Given the description of an element on the screen output the (x, y) to click on. 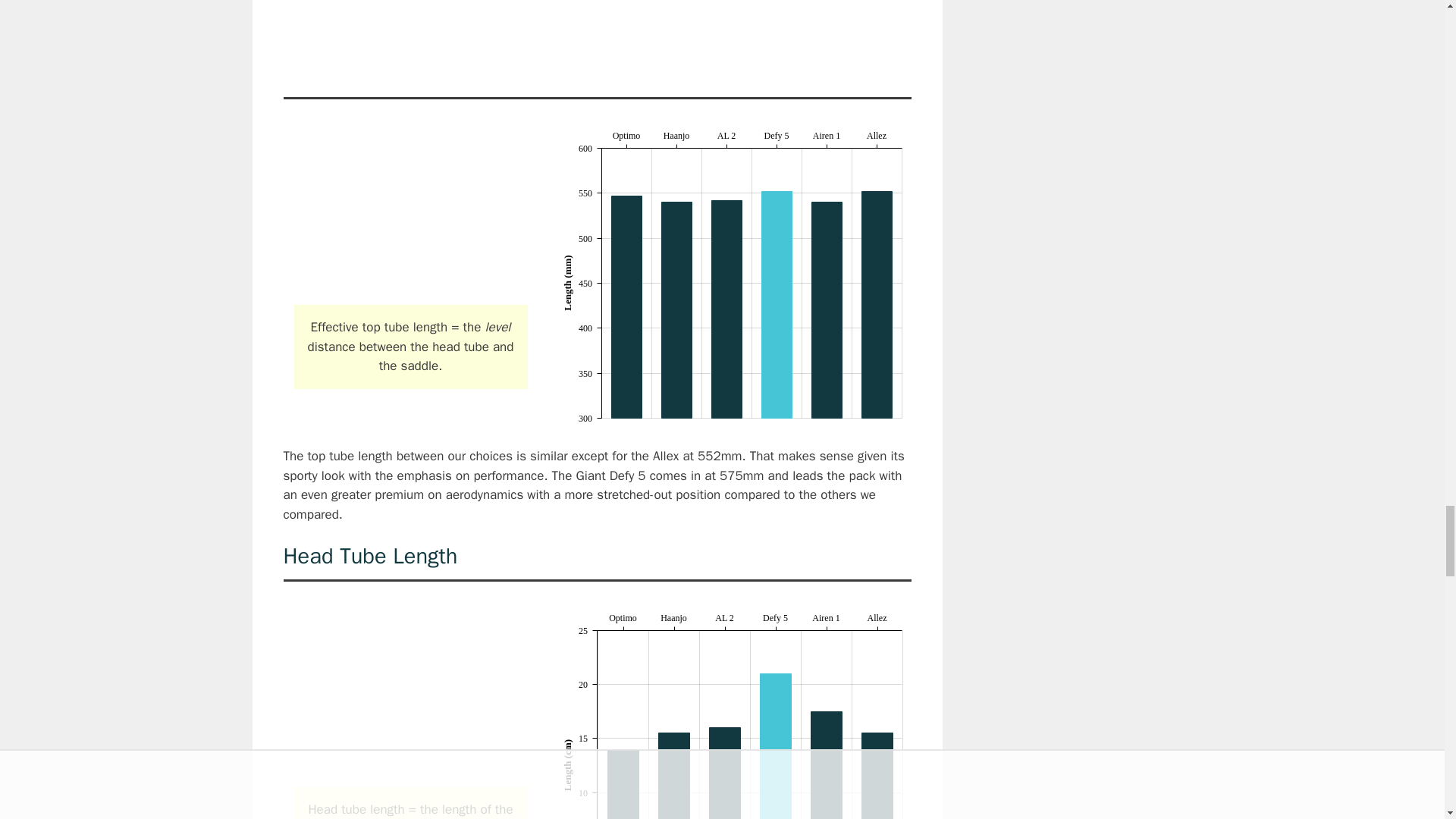
Head Tube Length (410, 693)
Effective Top Tube Length (410, 211)
